Given the description of an element on the screen output the (x, y) to click on. 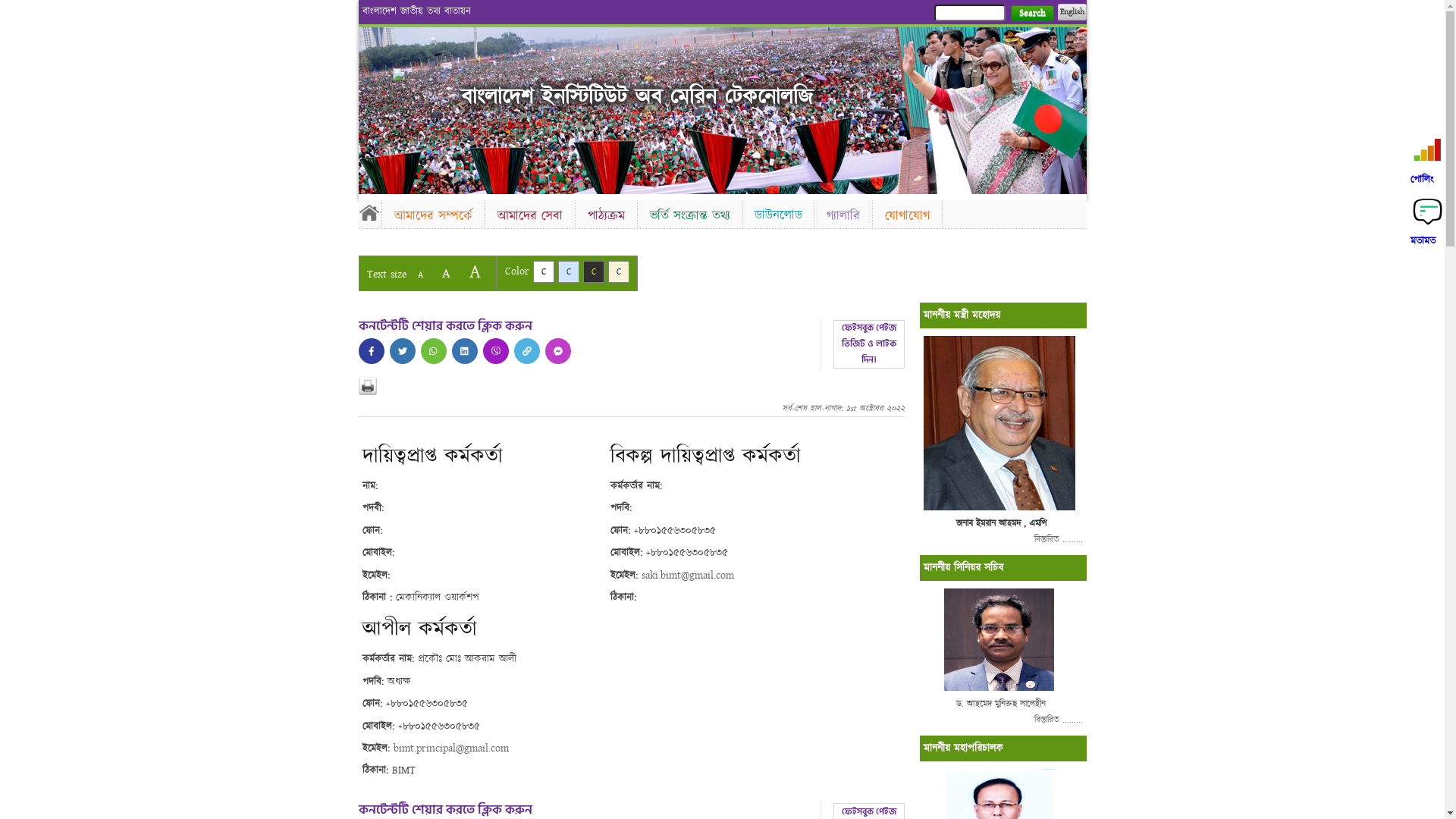
English Element type: text (1071, 11)
Home Element type: hover (368, 211)
bimt.principal@gmail.com Element type: text (450, 748)
C Element type: text (568, 271)
A Element type: text (474, 271)
C Element type: text (592, 271)
A Element type: text (419, 274)
C Element type: text (618, 271)
A Element type: text (445, 273)
saki.bimt@gmail.com Element type: text (687, 575)
Home Element type: hover (418, 76)
Search Element type: text (1031, 13)
C Element type: text (542, 271)
